Given the description of an element on the screen output the (x, y) to click on. 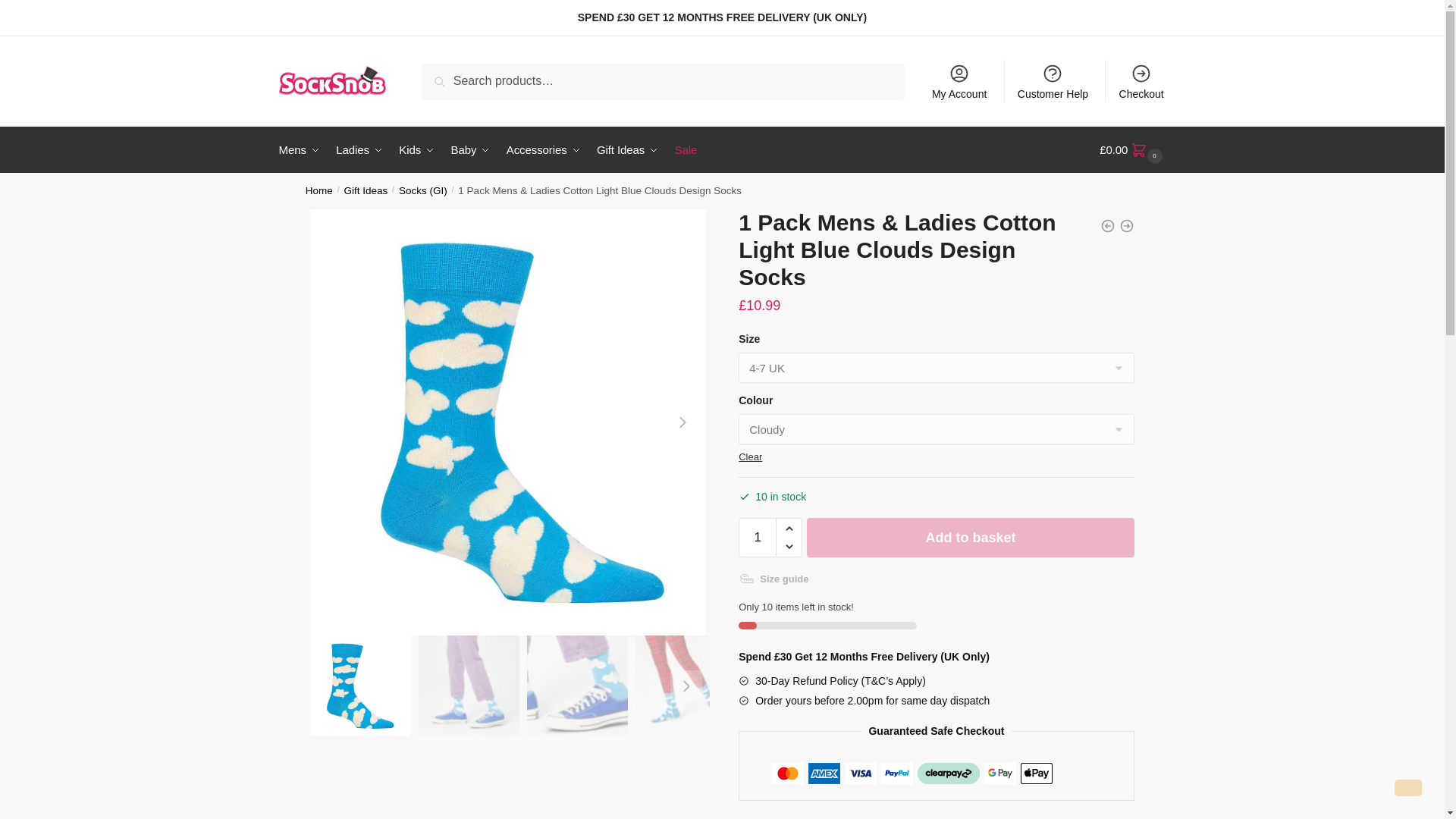
ScnsK (469, 685)
View your shopping cart (1132, 149)
Search (446, 74)
Mens (302, 149)
Customer Help (1053, 80)
Sc4lA (685, 685)
P000039-Cloudy (360, 685)
P000039-2 (577, 685)
My Account (959, 80)
Checkout (1141, 80)
1 (757, 537)
